Given the description of an element on the screen output the (x, y) to click on. 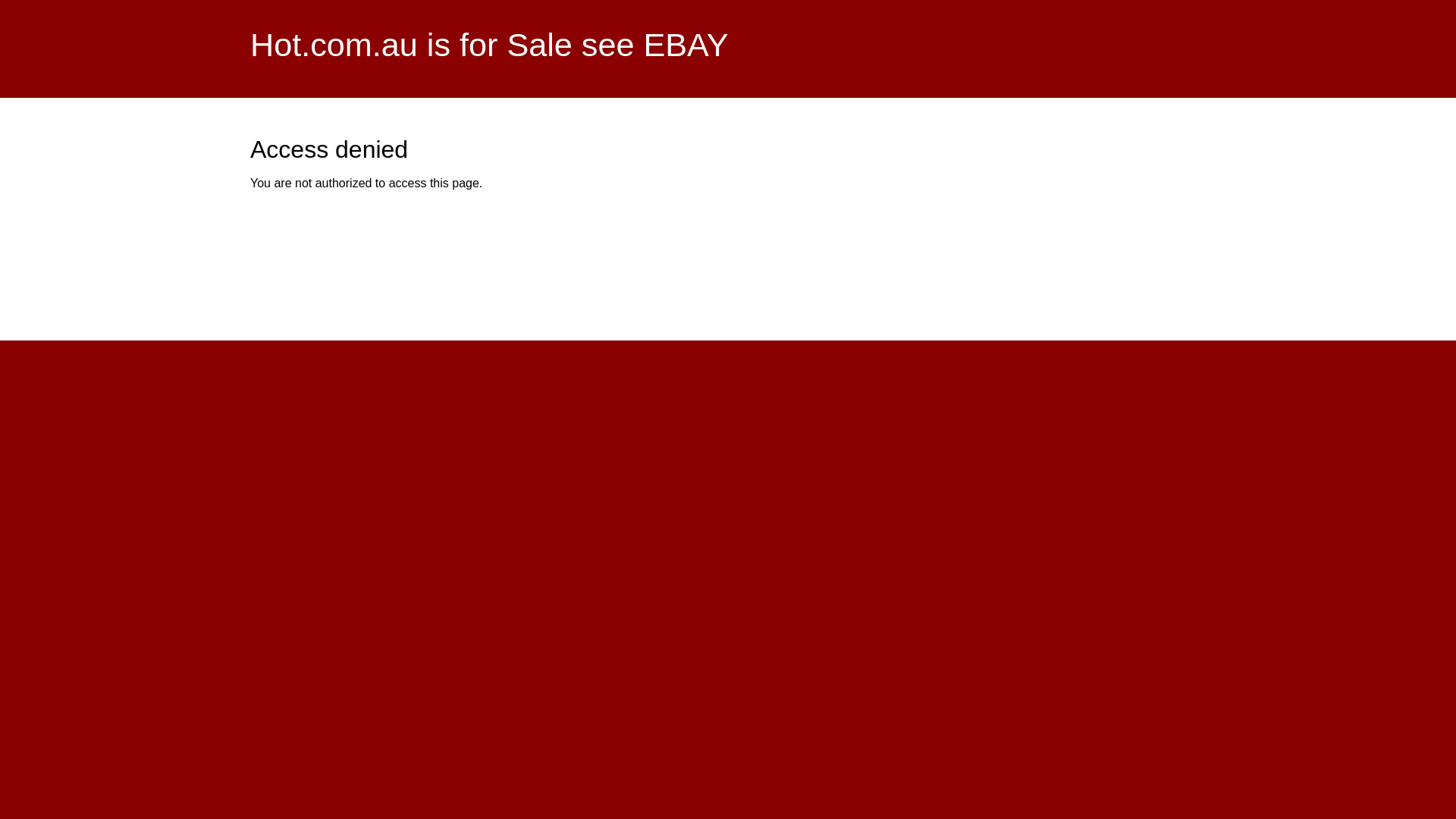
Hot.com.au is for Sale see EBAY Element type: text (489, 44)
Skip to main content Element type: text (690, 1)
